Given the description of an element on the screen output the (x, y) to click on. 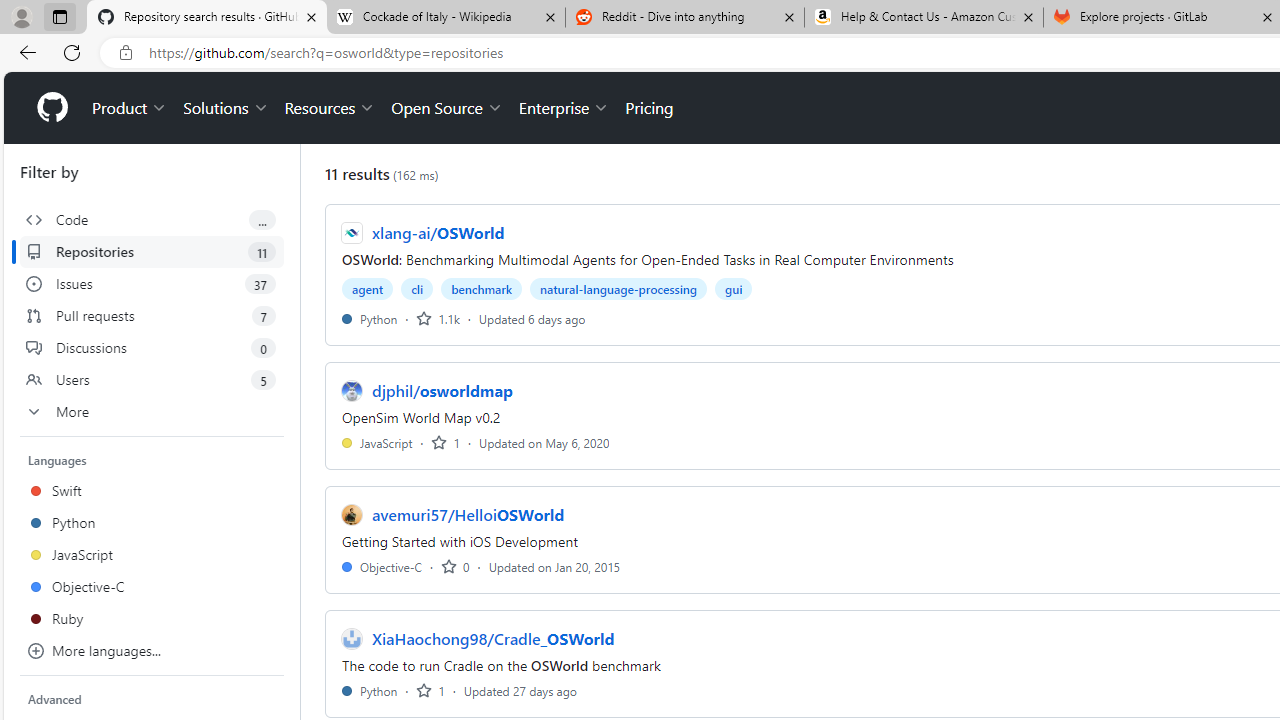
gui (733, 288)
1098 stars (437, 318)
xlang-ai/OSWorld (438, 232)
Pricing (649, 107)
1.1k (437, 318)
More (152, 411)
